Given the description of an element on the screen output the (x, y) to click on. 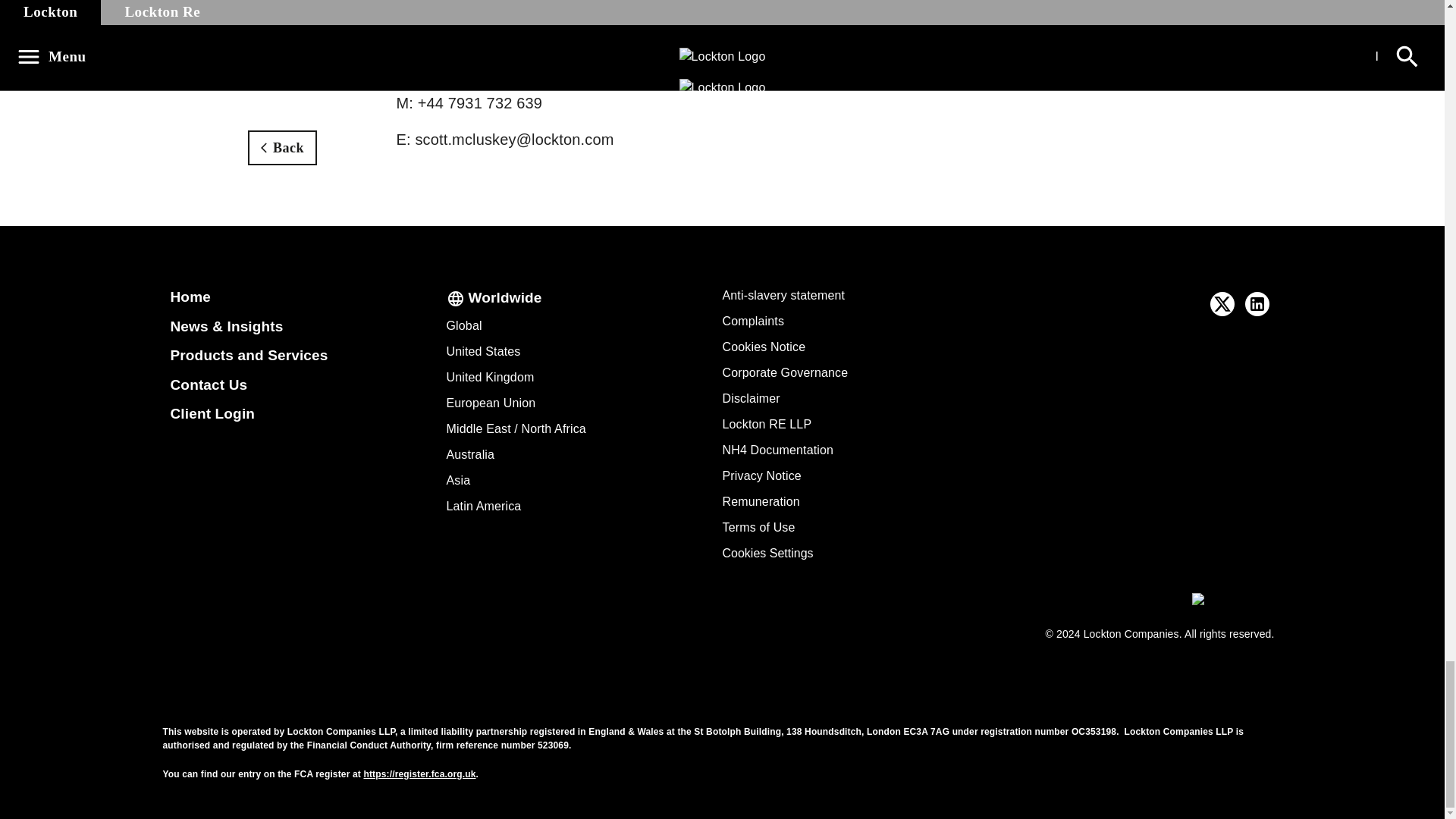
Anti-slavery statement (783, 295)
Latin America (483, 505)
NH4 Documentation (777, 449)
Lockton RE LLP (766, 423)
United Kingdom (489, 377)
Global (463, 325)
Corporate Governance (784, 372)
Cookies Notice (763, 346)
Client Login (212, 413)
Disclaimer (750, 398)
